Given the description of an element on the screen output the (x, y) to click on. 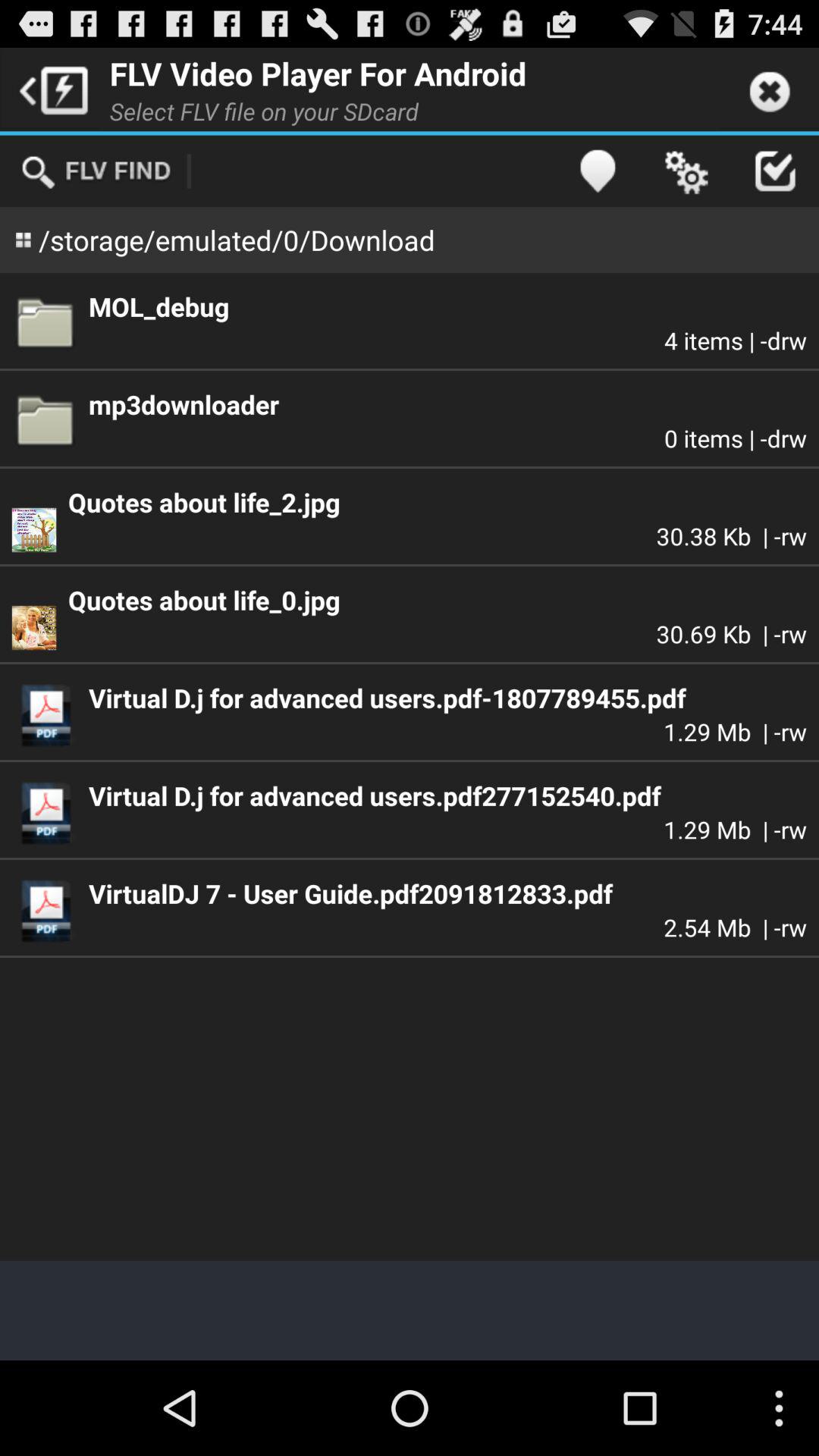
tap icon above mol_debug app (685, 171)
